Given the description of an element on the screen output the (x, y) to click on. 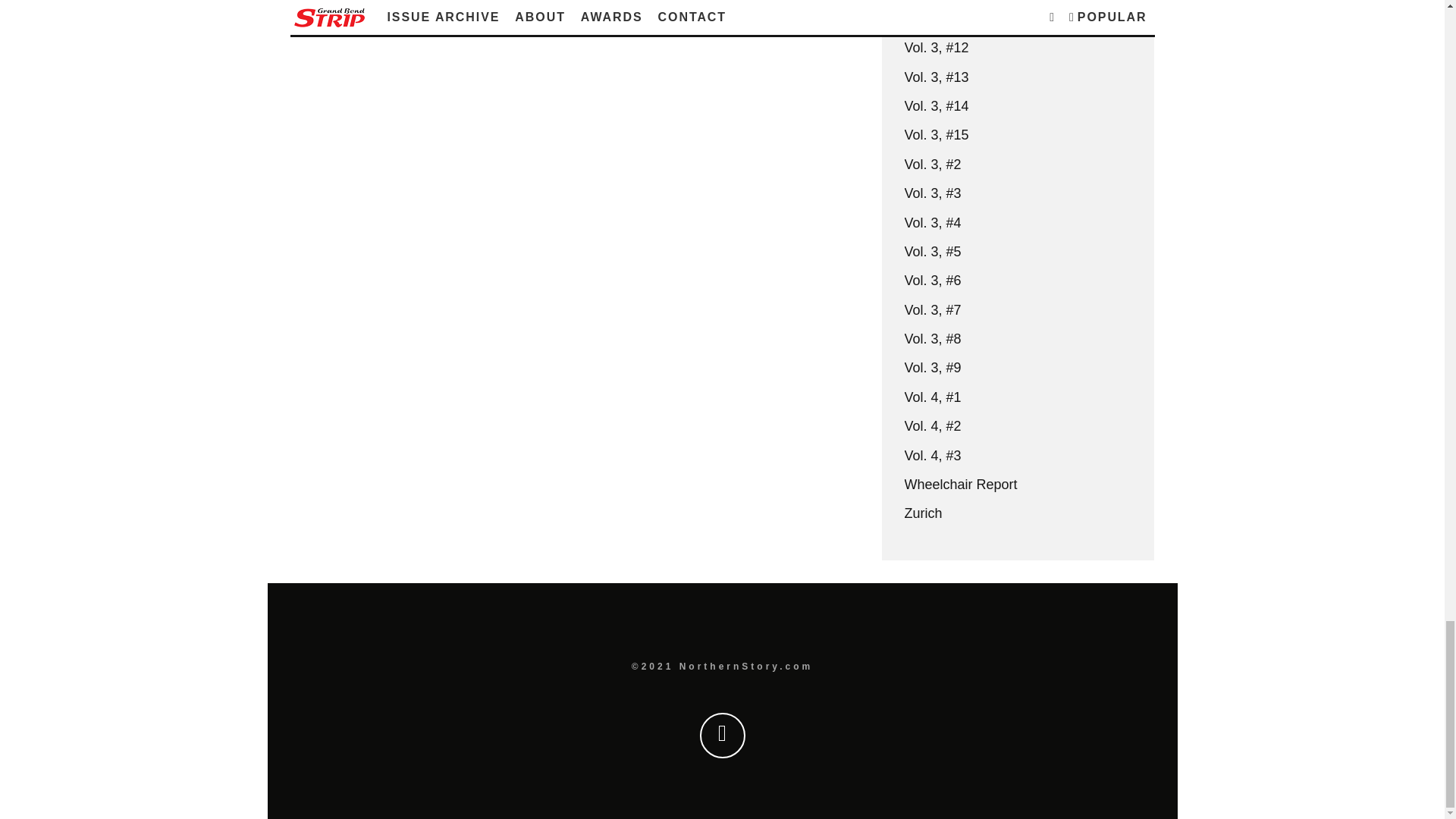
Submit (327, 16)
Submit (327, 16)
